Given the description of an element on the screen output the (x, y) to click on. 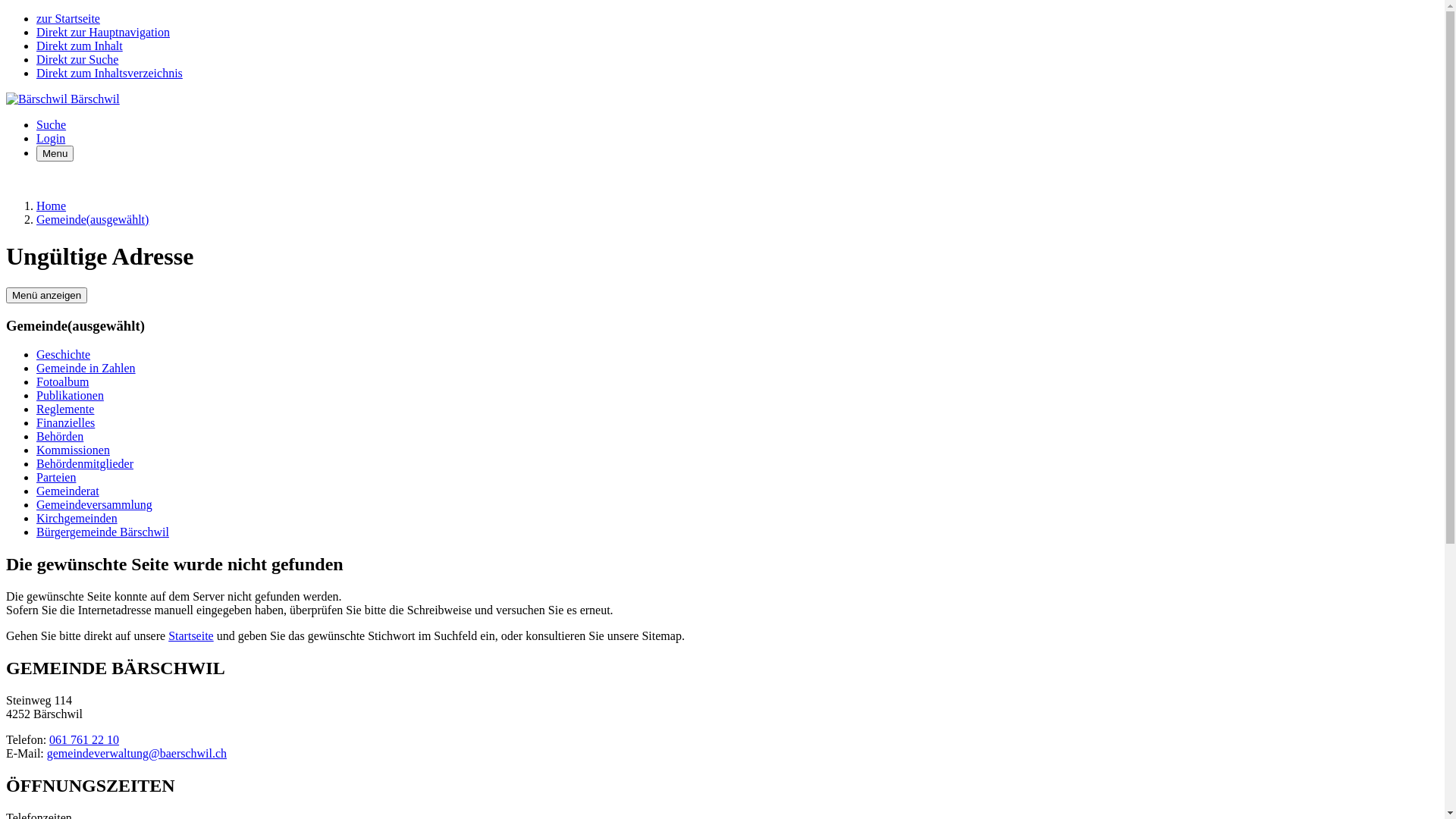
Startseite Element type: text (190, 635)
Kommissionen Element type: text (72, 449)
gemeindeverwaltung@baerschwil.ch Element type: text (136, 752)
Direkt zur Suche Element type: text (77, 59)
Geschichte Element type: text (63, 354)
Direkt zum Inhalt Element type: text (79, 45)
Menu Element type: text (54, 153)
Gemeinderat Element type: text (67, 490)
Kirchgemeinden Element type: text (76, 517)
Parteien Element type: text (55, 476)
zur Startseite Element type: text (68, 18)
Suche Element type: text (50, 124)
Fotoalbum Element type: text (62, 381)
Direkt zum Inhaltsverzeichnis Element type: text (109, 72)
061 761 22 10 Element type: text (84, 739)
Publikationen Element type: text (69, 395)
Gemeinde in Zahlen Element type: text (85, 367)
Finanzielles Element type: text (65, 422)
Home Element type: text (50, 205)
Login Element type: text (50, 137)
Gemeindeversammlung Element type: text (94, 504)
Direkt zur Hauptnavigation Element type: text (102, 31)
Reglemente Element type: text (65, 408)
